Given the description of an element on the screen output the (x, y) to click on. 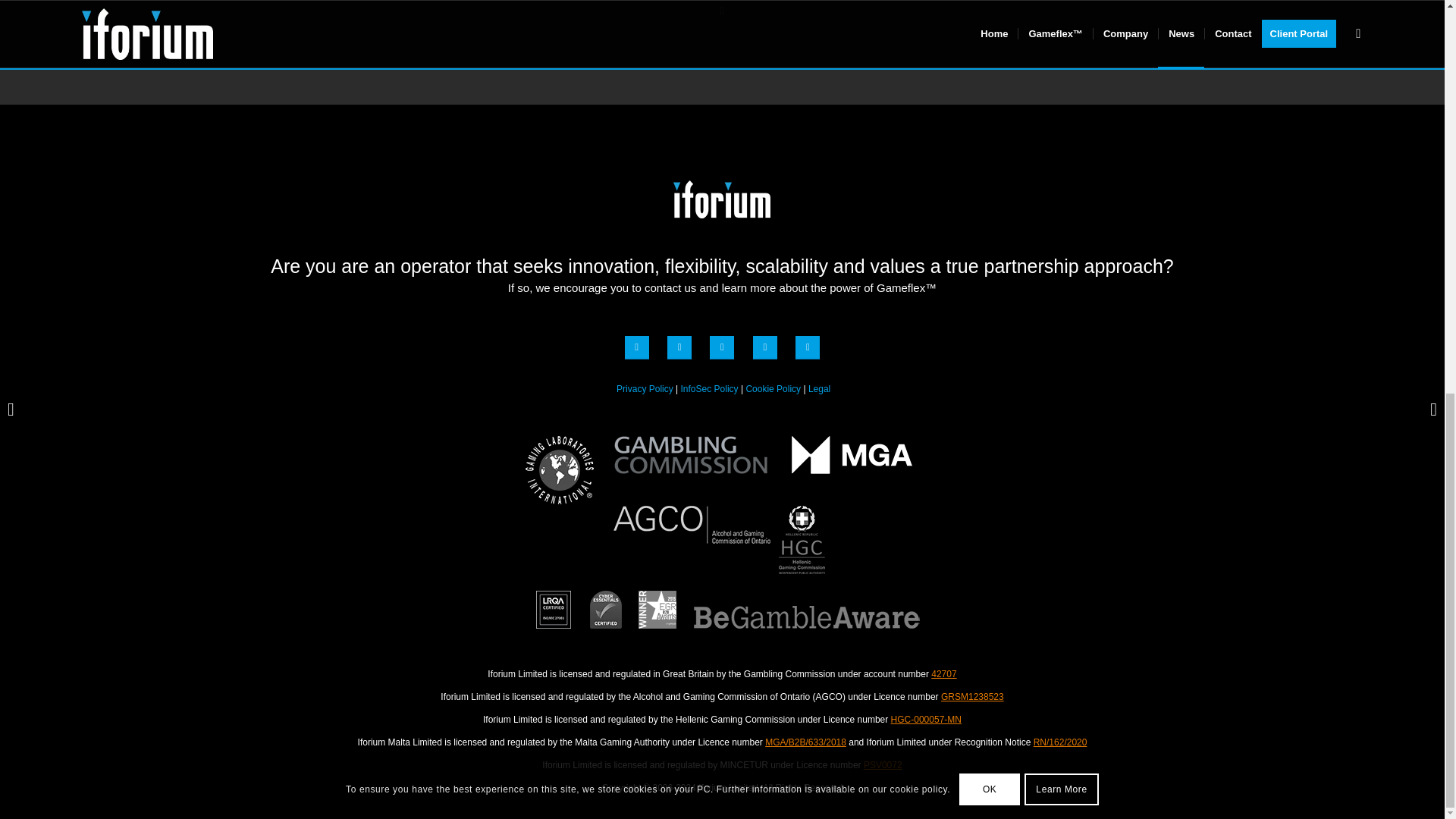
Legal (818, 388)
HGC-000057-MN (925, 719)
iforium-logo-white-50 (721, 199)
GRSM1238523 (972, 696)
42707 (943, 674)
Privacy Policy (643, 388)
InfoSec Policy (709, 388)
Cookie Policy (772, 388)
